Given the description of an element on the screen output the (x, y) to click on. 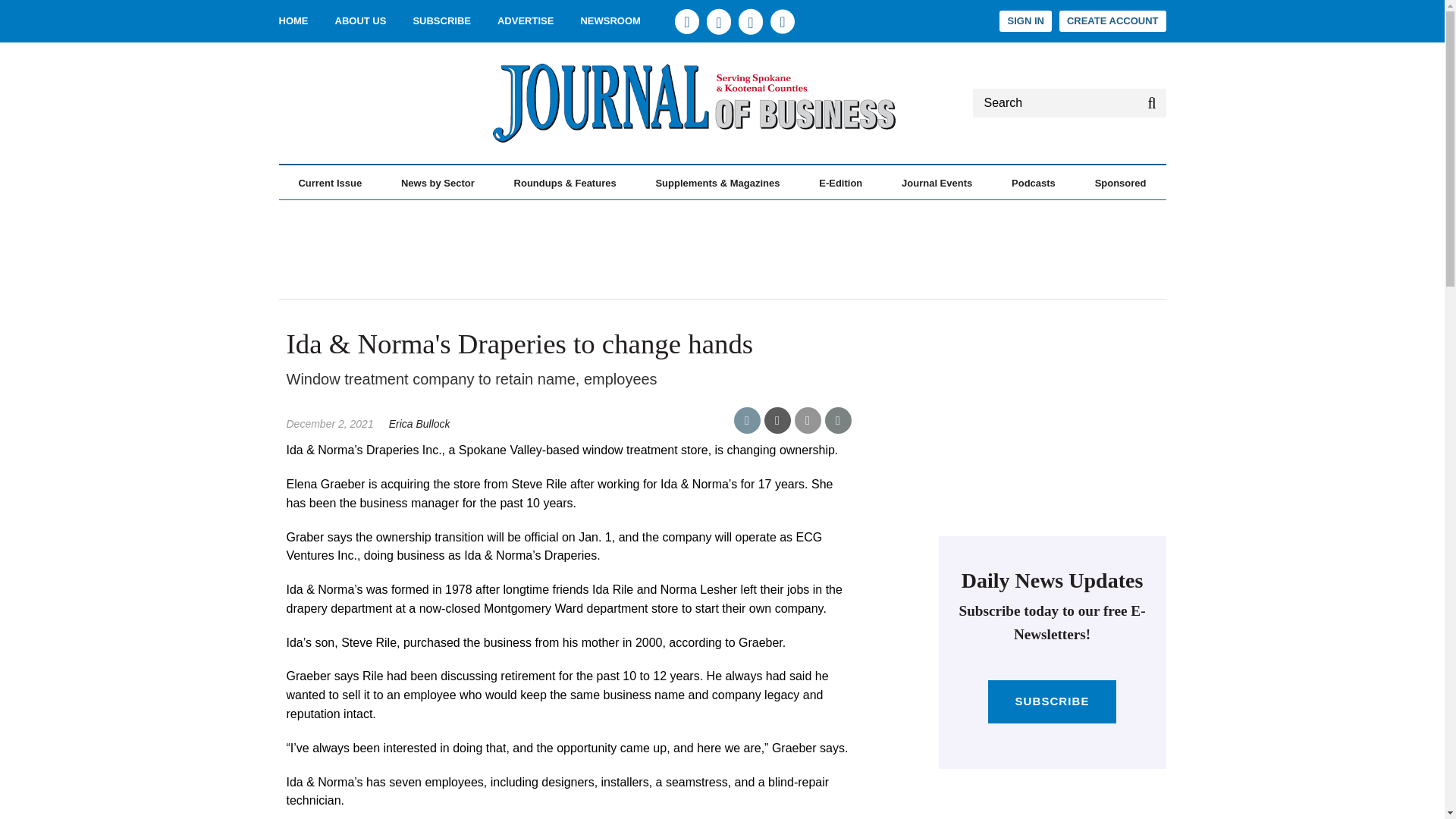
3rd party ad content (1052, 801)
3rd party ad content (721, 249)
3rd party ad content (1052, 425)
3rd party ad content (326, 103)
